Given the description of an element on the screen output the (x, y) to click on. 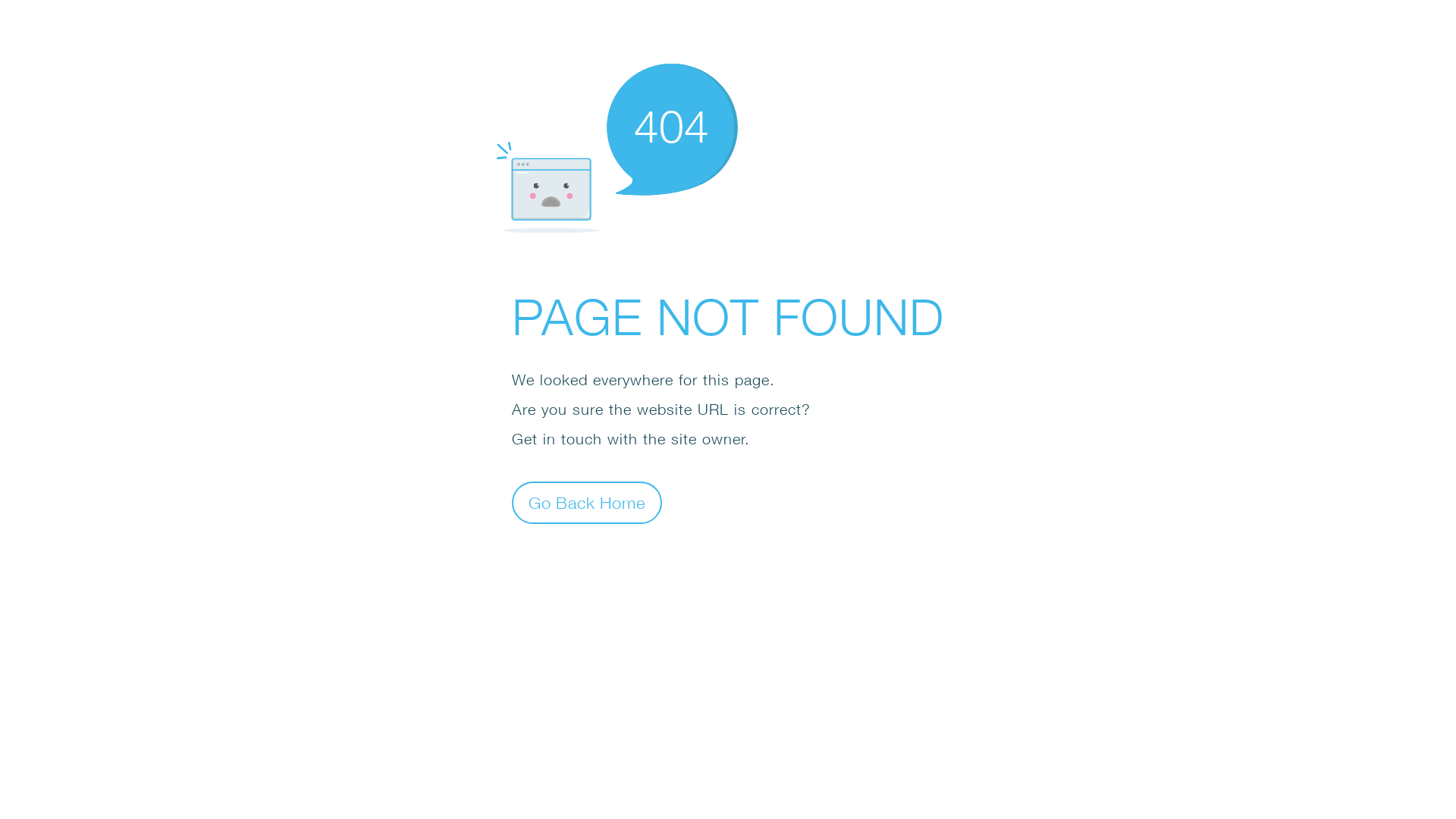
Go Back Home Element type: text (586, 502)
